Given the description of an element on the screen output the (x, y) to click on. 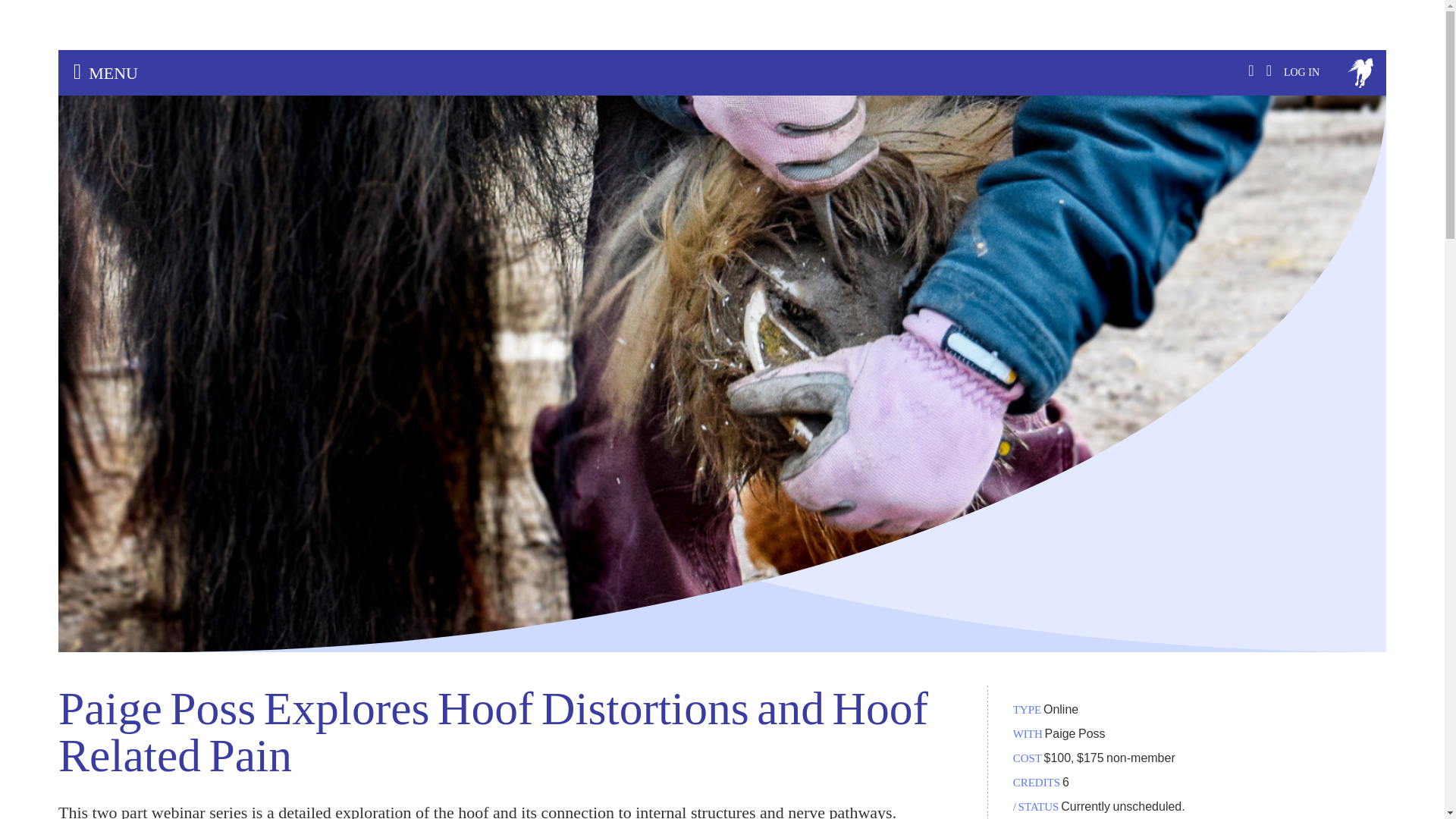
MENU (722, 72)
Log in (1301, 73)
LOG IN (1301, 73)
